Given the description of an element on the screen output the (x, y) to click on. 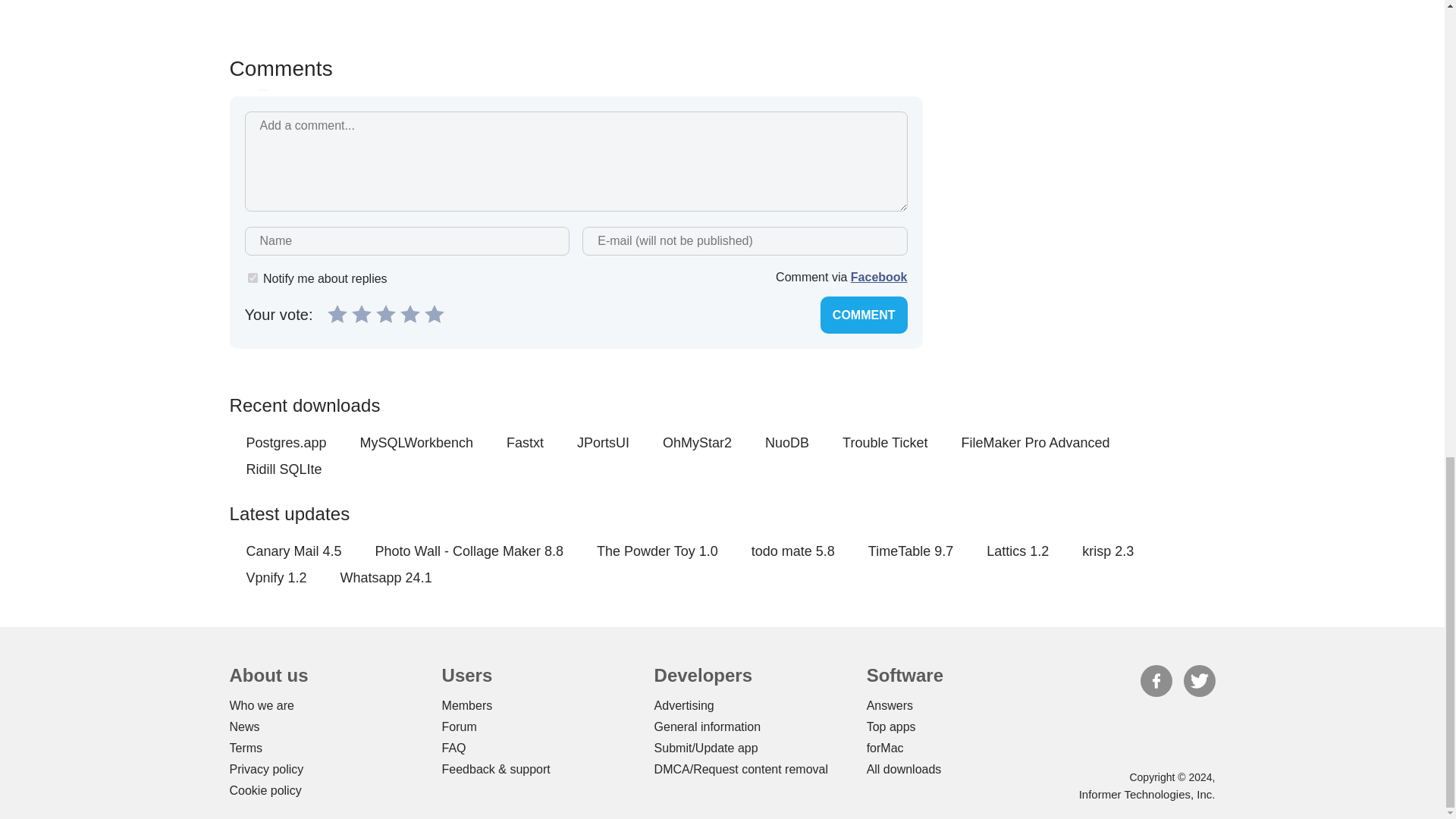
Postgres.app (286, 442)
2 (361, 313)
Comment (864, 314)
MySQLWorkbench (416, 442)
OhMyStar2 (697, 442)
4 (409, 313)
3 (385, 313)
Fastxt (524, 442)
5 (434, 313)
1 (336, 313)
1 (252, 277)
Comment (864, 314)
JPortsUI (602, 442)
NuoDB (787, 442)
